Given the description of an element on the screen output the (x, y) to click on. 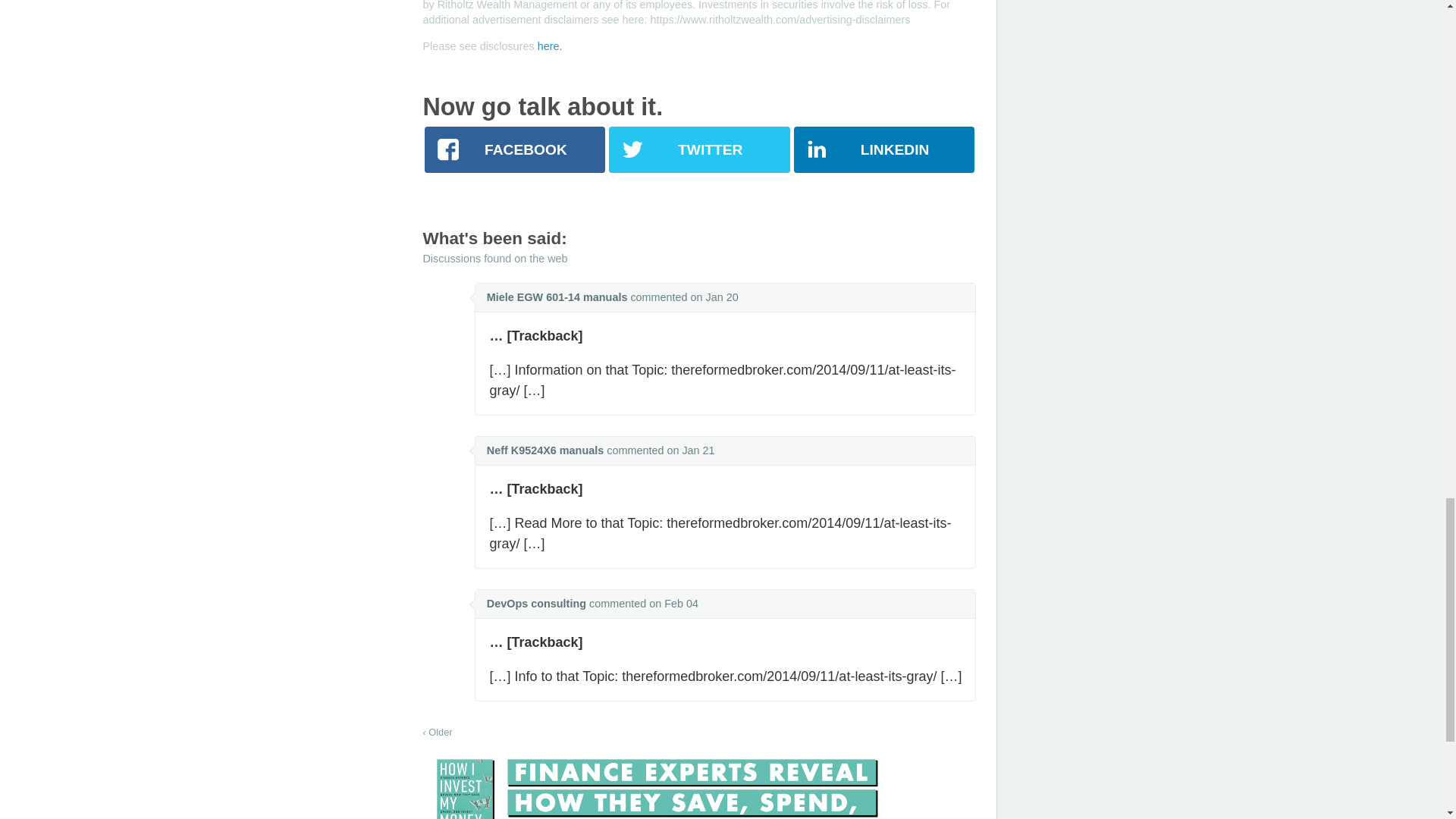
FACEBOOK (515, 148)
here. (549, 46)
Neff K9524X6 manuals (545, 450)
TWITTER (698, 148)
DevOps consulting (536, 603)
Miele EGW 601-14 manuals (556, 297)
LINKEDIN (883, 148)
